Given the description of an element on the screen output the (x, y) to click on. 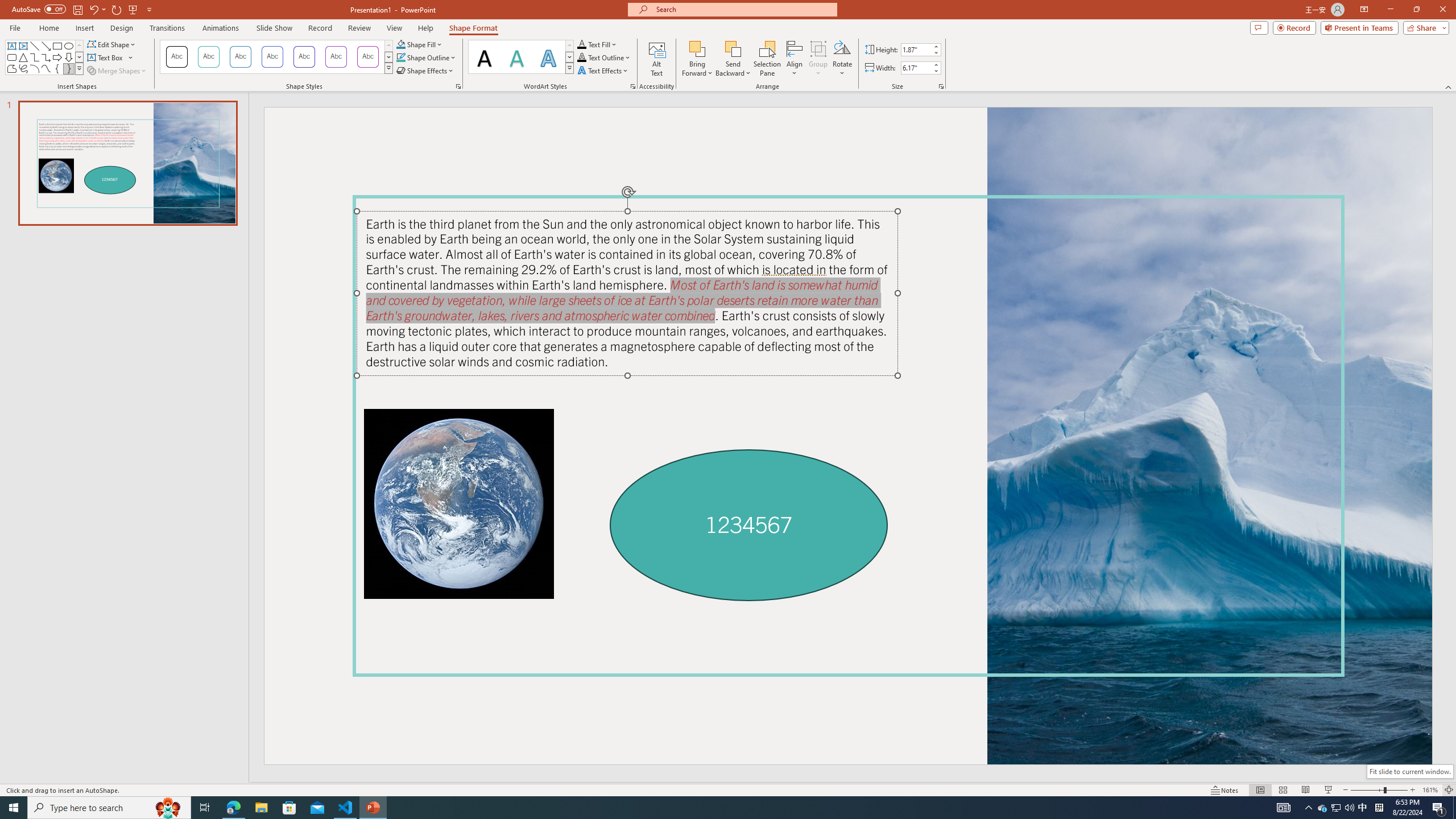
Fill: Aqua, Accent color 2; Outline: Aqua, Accent color 2 (548, 56)
Shape Outline (426, 56)
Shape Outline Teal, Accent 1 (400, 56)
Fill: Black, Text color 1; Shadow (484, 56)
Quick Styles (568, 67)
Share (1423, 27)
Alt Text (656, 58)
Align (794, 58)
Send Backward (733, 58)
Collapse the Ribbon (1448, 86)
Undo (96, 9)
More Options (733, 68)
Slide Show (1328, 790)
Fit slide to current window. (1410, 771)
Text Fill RGB(0, 0, 0) (581, 44)
